Given the description of an element on the screen output the (x, y) to click on. 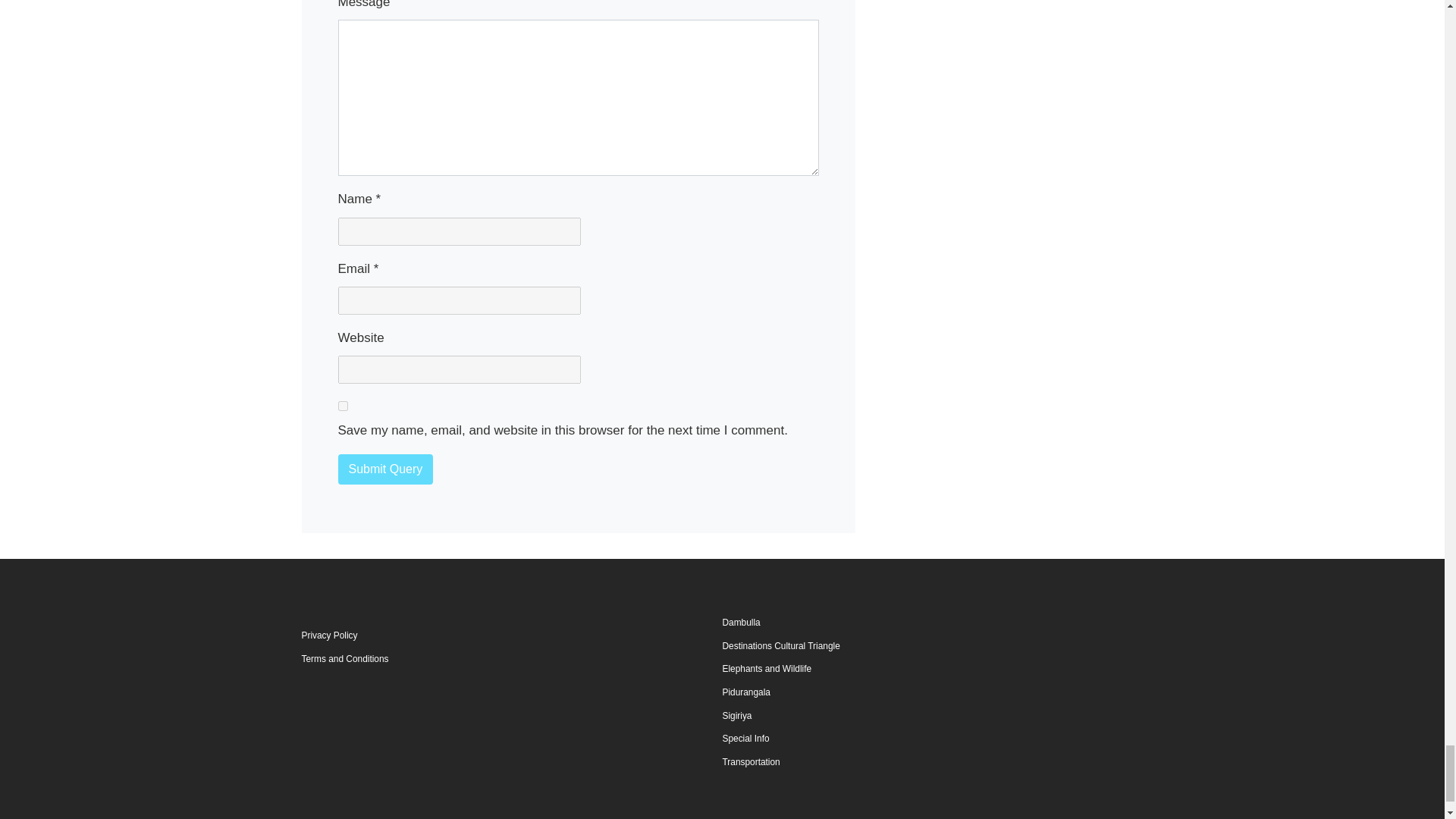
yes (342, 406)
Submit Query (385, 469)
